Given the description of an element on the screen output the (x, y) to click on. 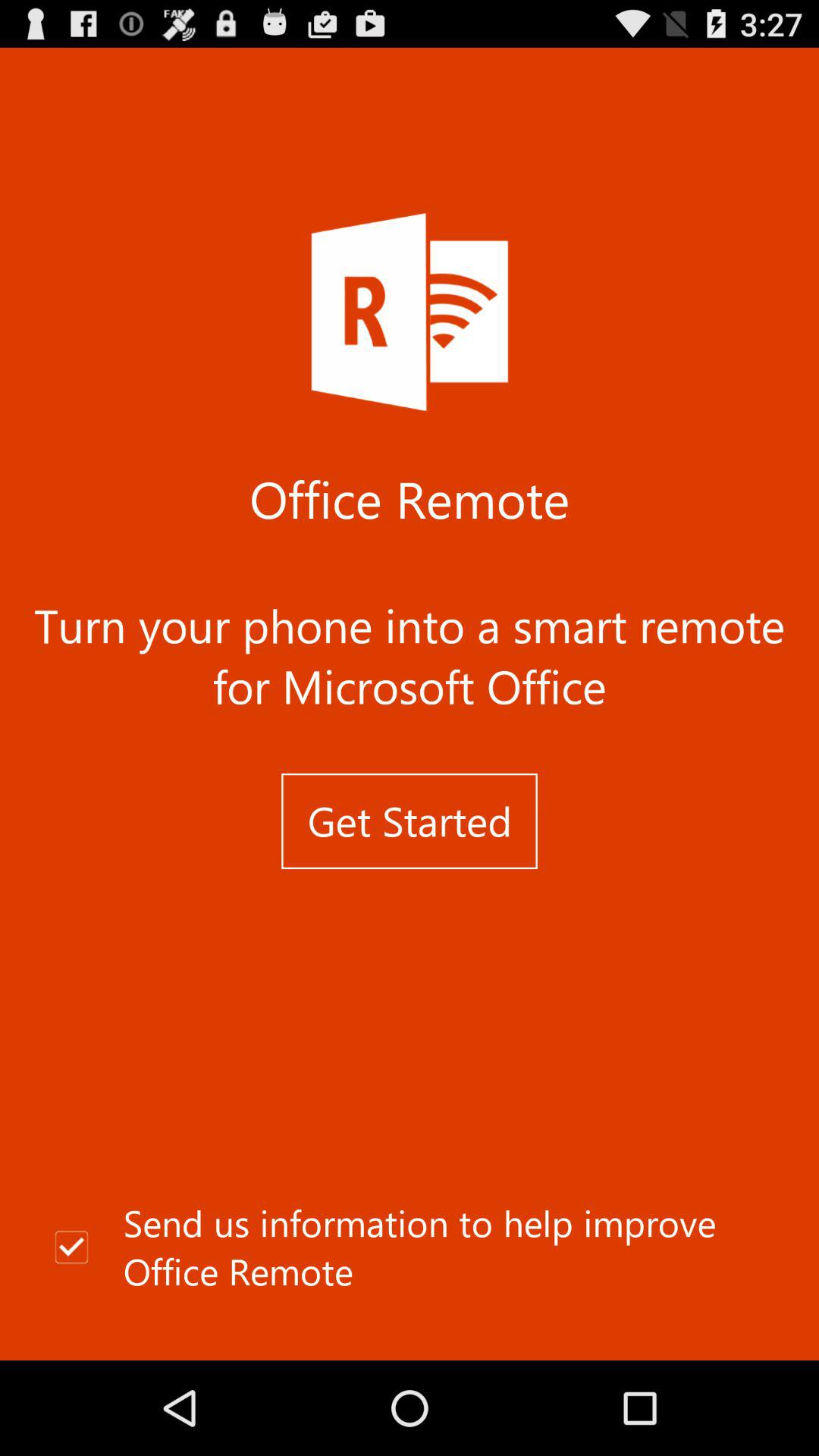
tap the send us information at the bottom (409, 1247)
